Given the description of an element on the screen output the (x, y) to click on. 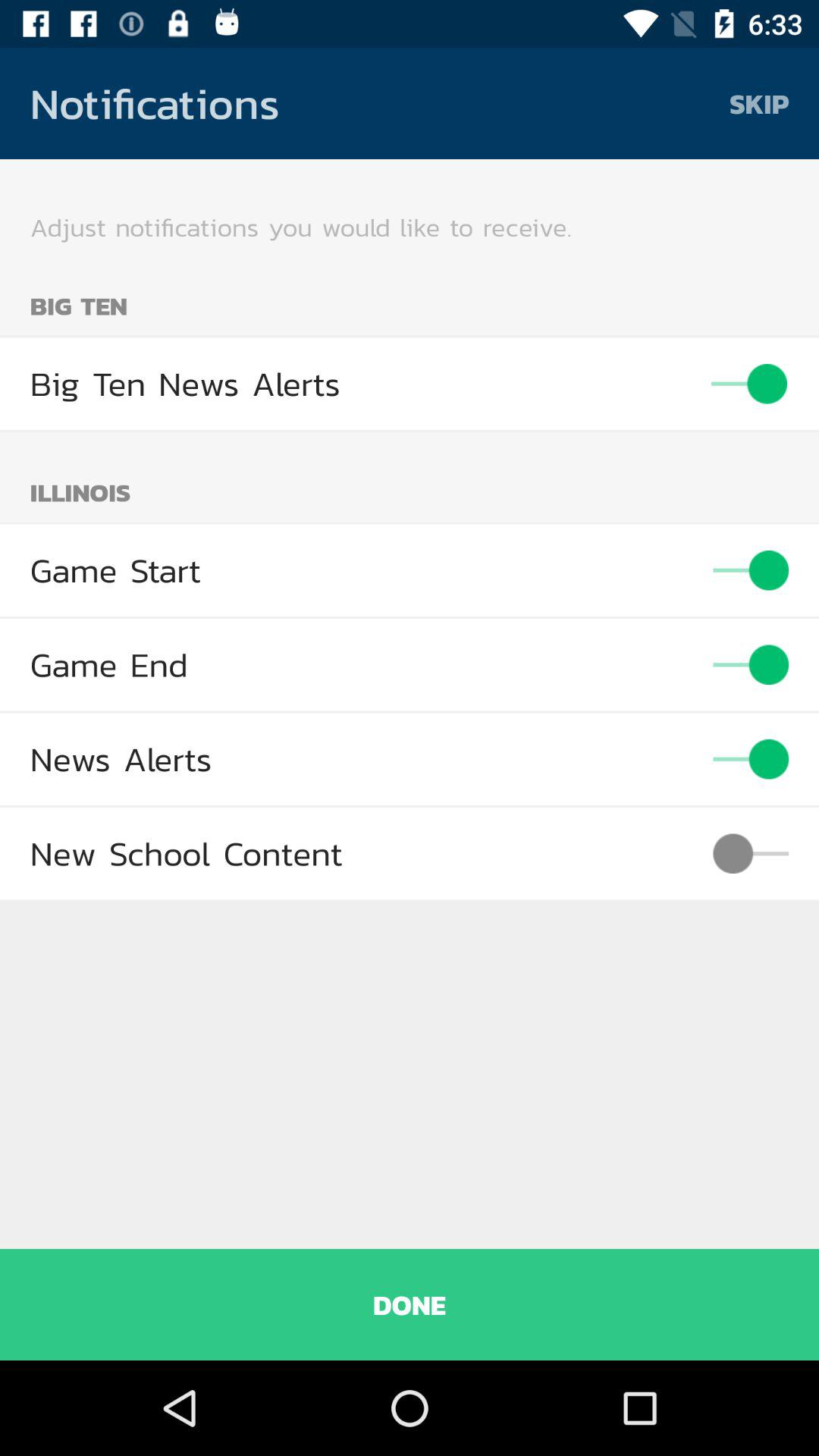
open item above the adjust notifications you (758, 103)
